Given the description of an element on the screen output the (x, y) to click on. 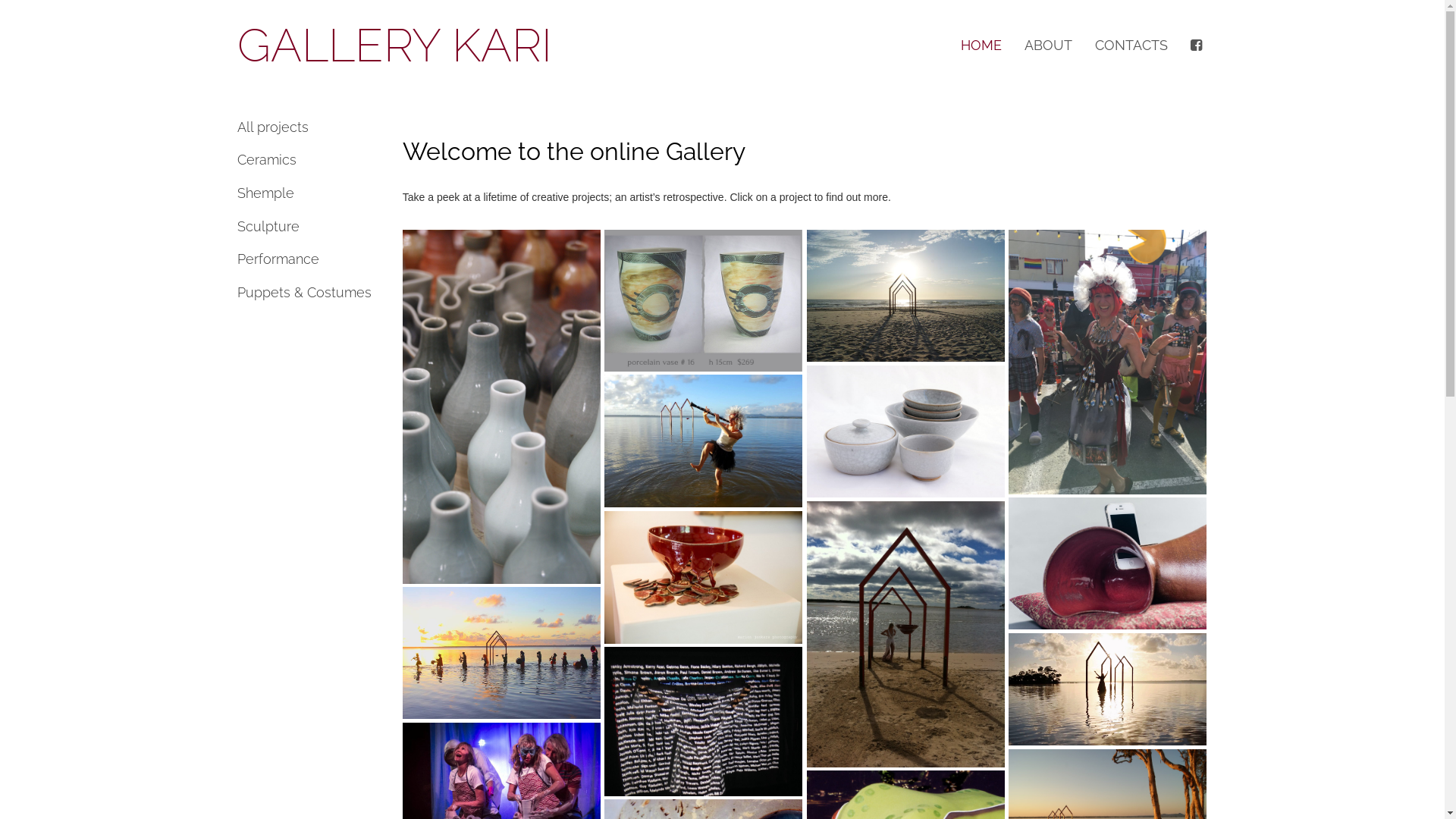
Tableware Element type: hover (905, 431)
Sculpture Element type: text (307, 226)
CONTACTS Element type: text (1130, 45)
ABOUT Element type: text (1048, 45)
Pieces Of My Heart 2017 Element type: hover (1107, 563)
Shemple Element type: text (307, 193)
Kari the musician Element type: hover (703, 440)
Pelagic Plastic Element type: hover (501, 406)
Shemple .. on the lake Element type: hover (1107, 688)
Shemple .. and The Unusual Suspects Element type: hover (501, 652)
Ceramics Element type: text (307, 159)
HOME Element type: text (981, 45)
Visit our Facebook page Element type: hover (1198, 45)
All projects Element type: text (307, 127)
Pieces of My Heart 2016 Element type: hover (703, 577)
Performance Element type: text (307, 259)
Puppets & Costumes Element type: text (307, 292)
Shemple on the Shore Element type: hover (905, 295)
GALLERY KARI Element type: text (393, 45)
Porcelain Pieces Element type: hover (703, 300)
Costumes Element type: hover (1107, 361)
Shemple .. at Cotton Tree Element type: hover (905, 633)
